Given the description of an element on the screen output the (x, y) to click on. 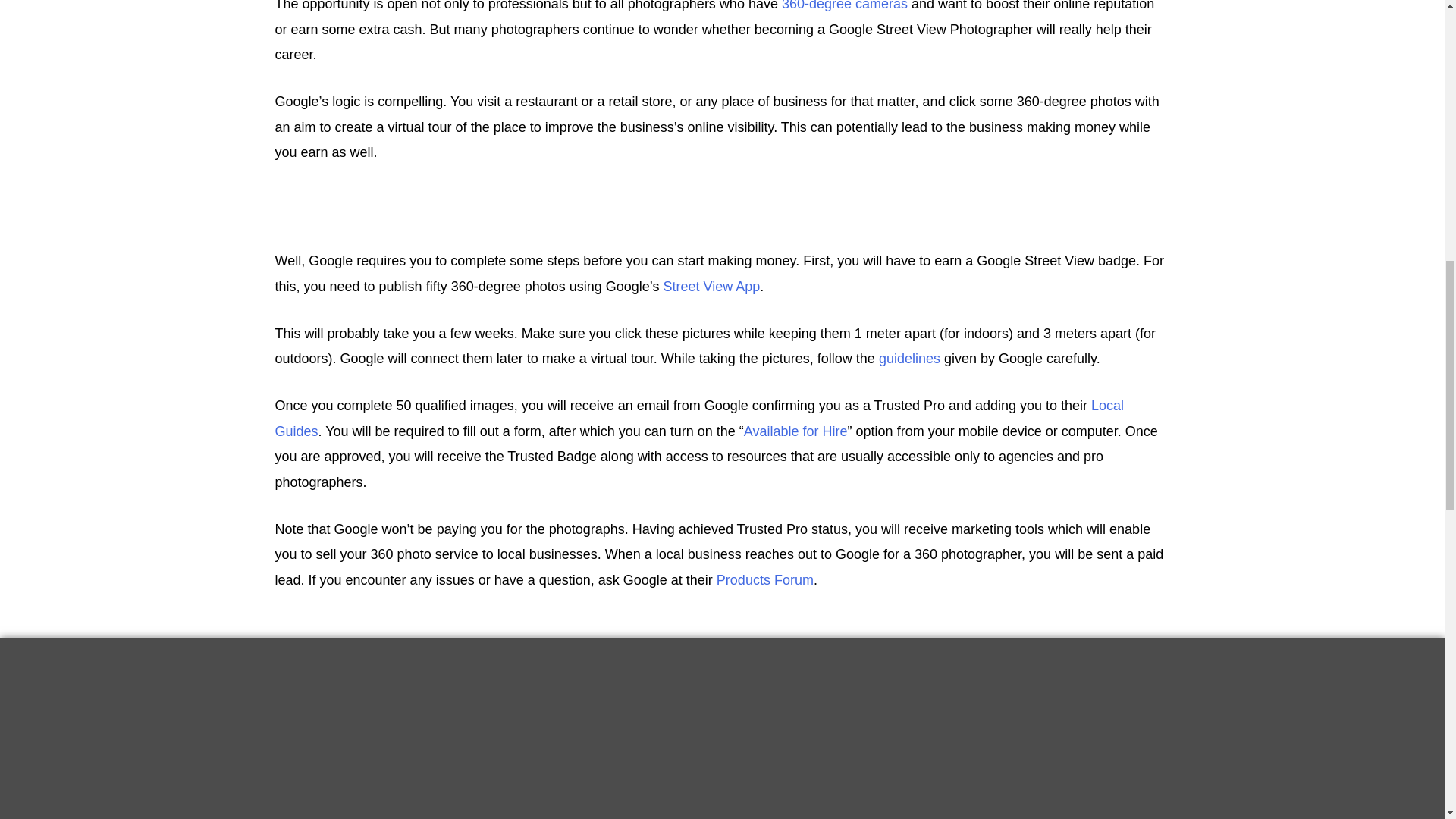
Local Guides (699, 418)
360-degree cameras (844, 5)
Products Forum (764, 580)
guidelines (909, 358)
Available for Hire (795, 431)
Street View App (711, 286)
